Given the description of an element on the screen output the (x, y) to click on. 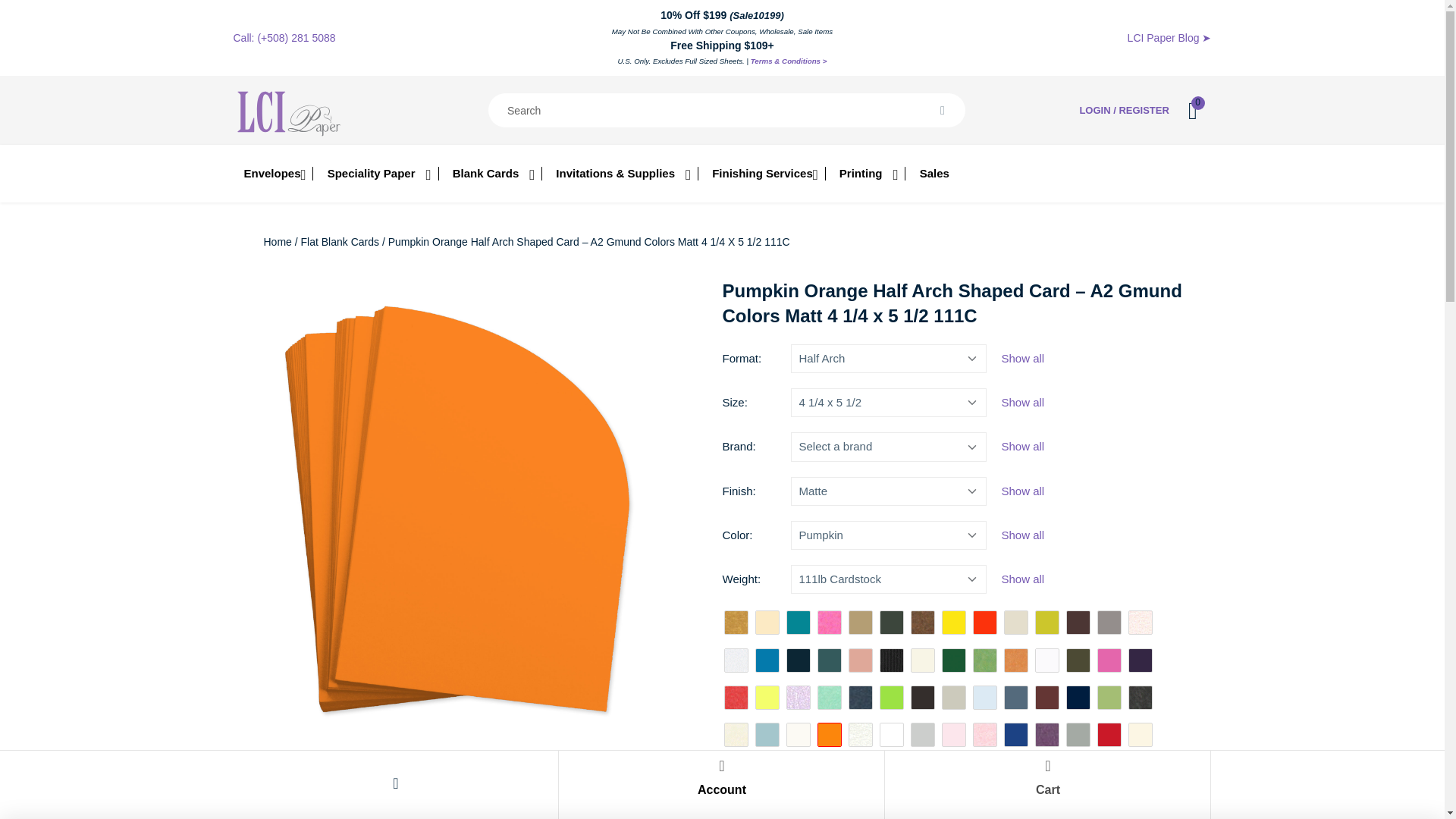
Envelopes (273, 173)
Search (942, 110)
